Given the description of an element on the screen output the (x, y) to click on. 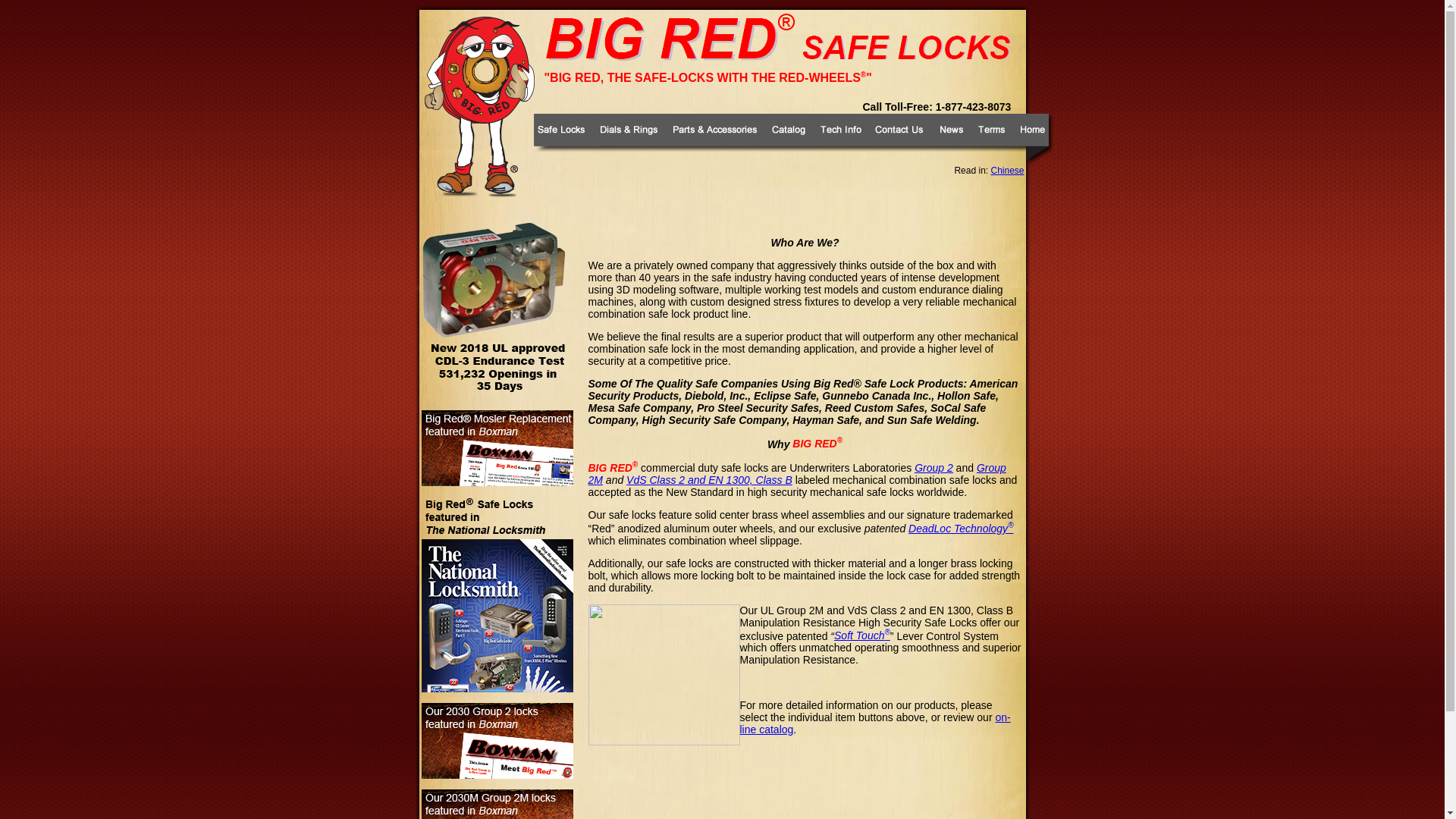
Group 2M (797, 473)
on-line catalog (874, 723)
Technical Information (838, 138)
Contact Us (899, 138)
Chinese (1006, 170)
VdS Class 2 and EN 1300, Class B (709, 480)
Parts and Accessories (712, 138)
Safe Locks (561, 138)
Group 2 (933, 467)
Catalog (788, 138)
Dials and Rings (628, 138)
